Given the description of an element on the screen output the (x, y) to click on. 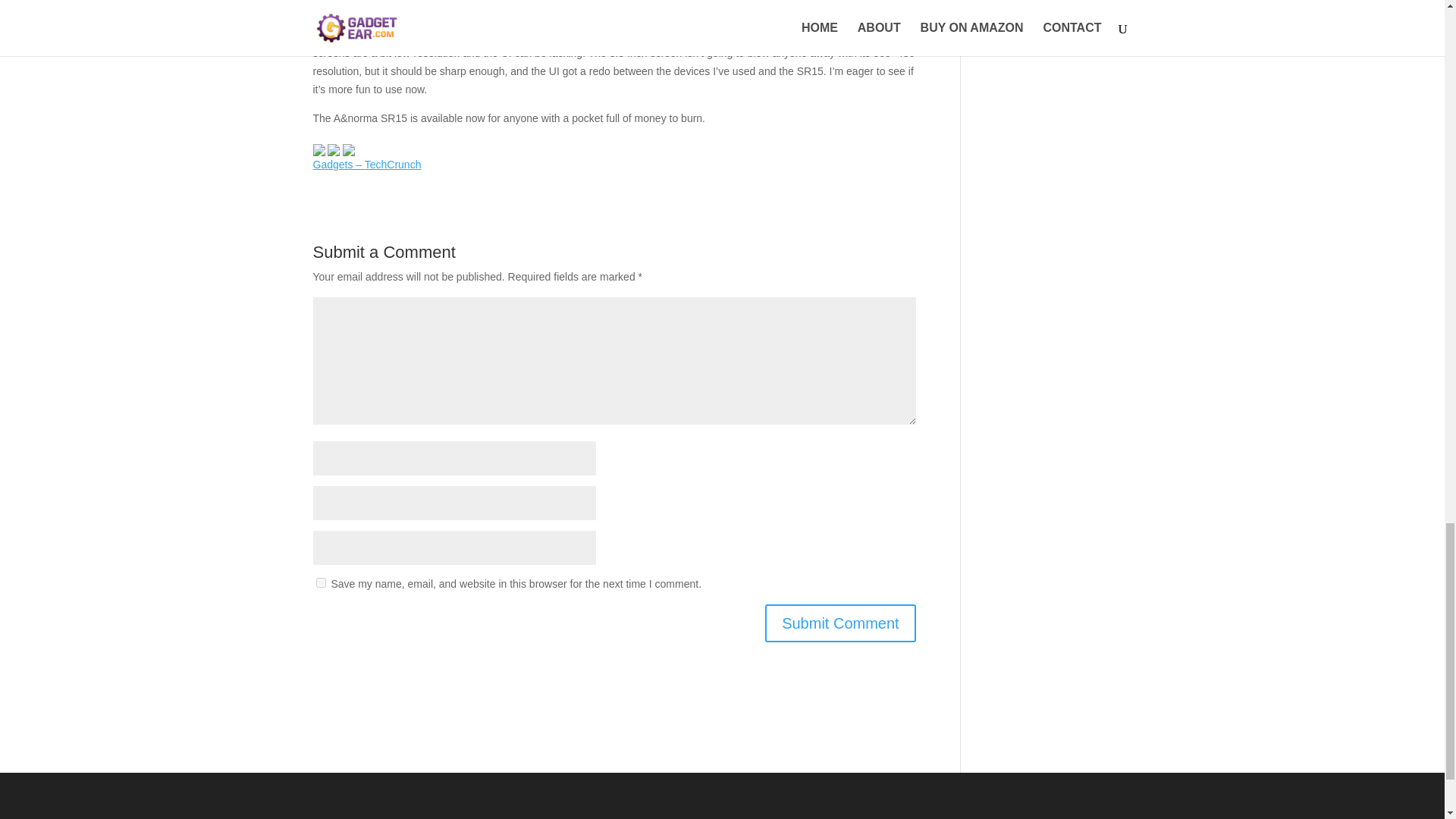
yes (319, 583)
Submit Comment (840, 623)
Submit Comment (840, 623)
